Given the description of an element on the screen output the (x, y) to click on. 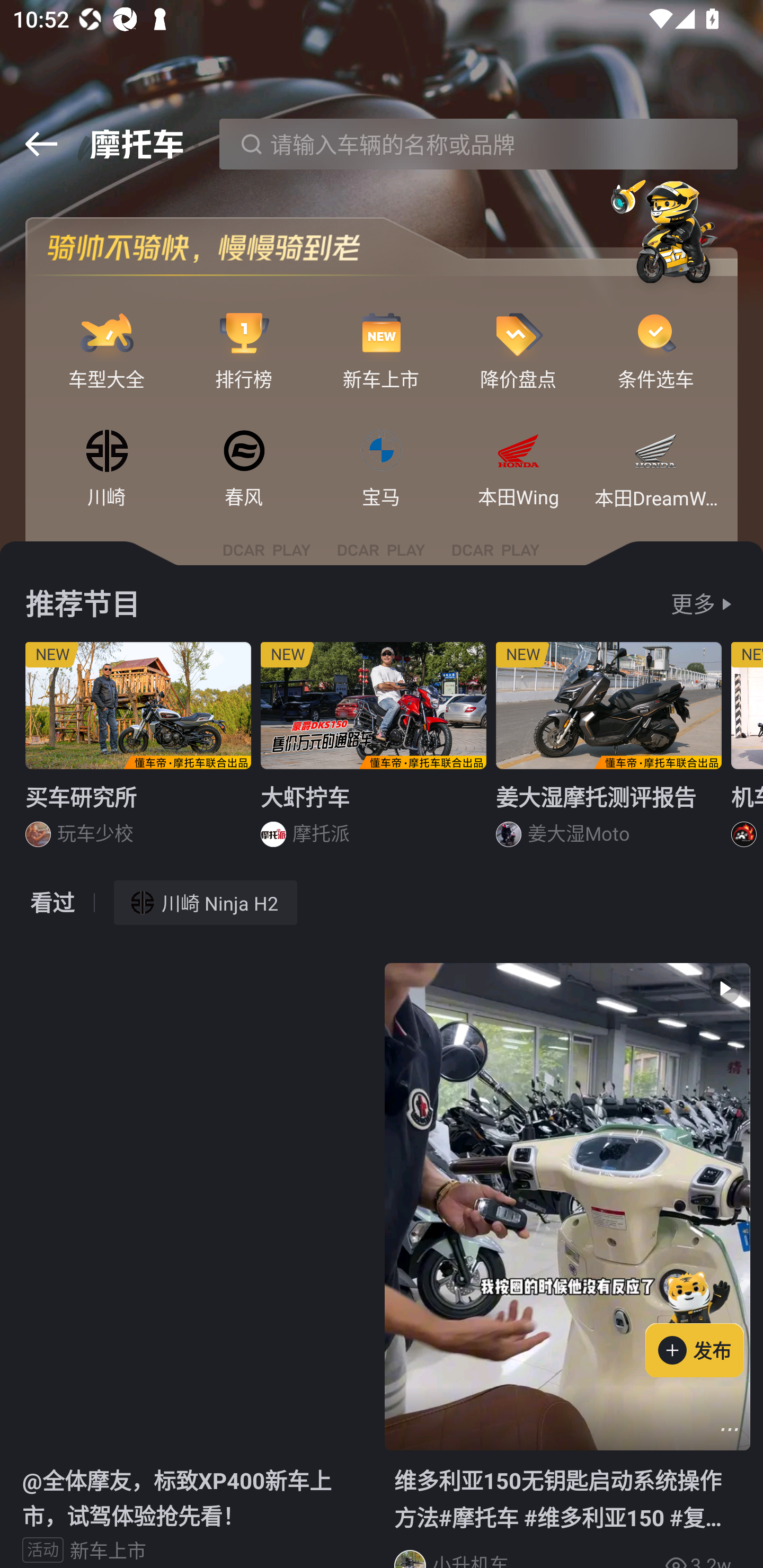
 请输入车辆的名称或品牌 (478, 144)
 (41, 144)
车型大全 (106, 334)
排行榜 (243, 334)
新车上市 (381, 334)
降价盘点 (518, 334)
条件选车 (655, 334)
川崎 (106, 452)
春风 (243, 452)
宝马 (381, 452)
本田Wing (518, 452)
本田DreamWing (655, 452)
更多 (692, 603)
NEW 买车研究所 玩车少校 (138, 750)
NEW 大虾拧车 摩托派 (373, 750)
NEW 姜大湿摩托测评报告 姜大湿Moto (608, 750)
川崎 Ninja H2 (205, 902)
@全体摩友，标致XP400新车上市，试驾体验抢先看！ 活动 新车上市 (195, 1265)
发布 (704, 1320)
 (729, 1429)
